Given the description of an element on the screen output the (x, y) to click on. 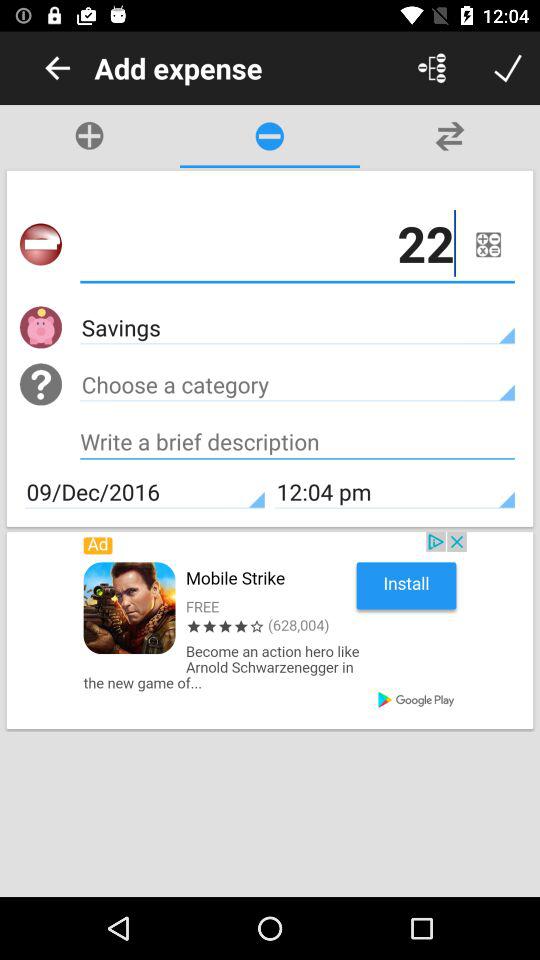
write description (297, 444)
